Given the description of an element on the screen output the (x, y) to click on. 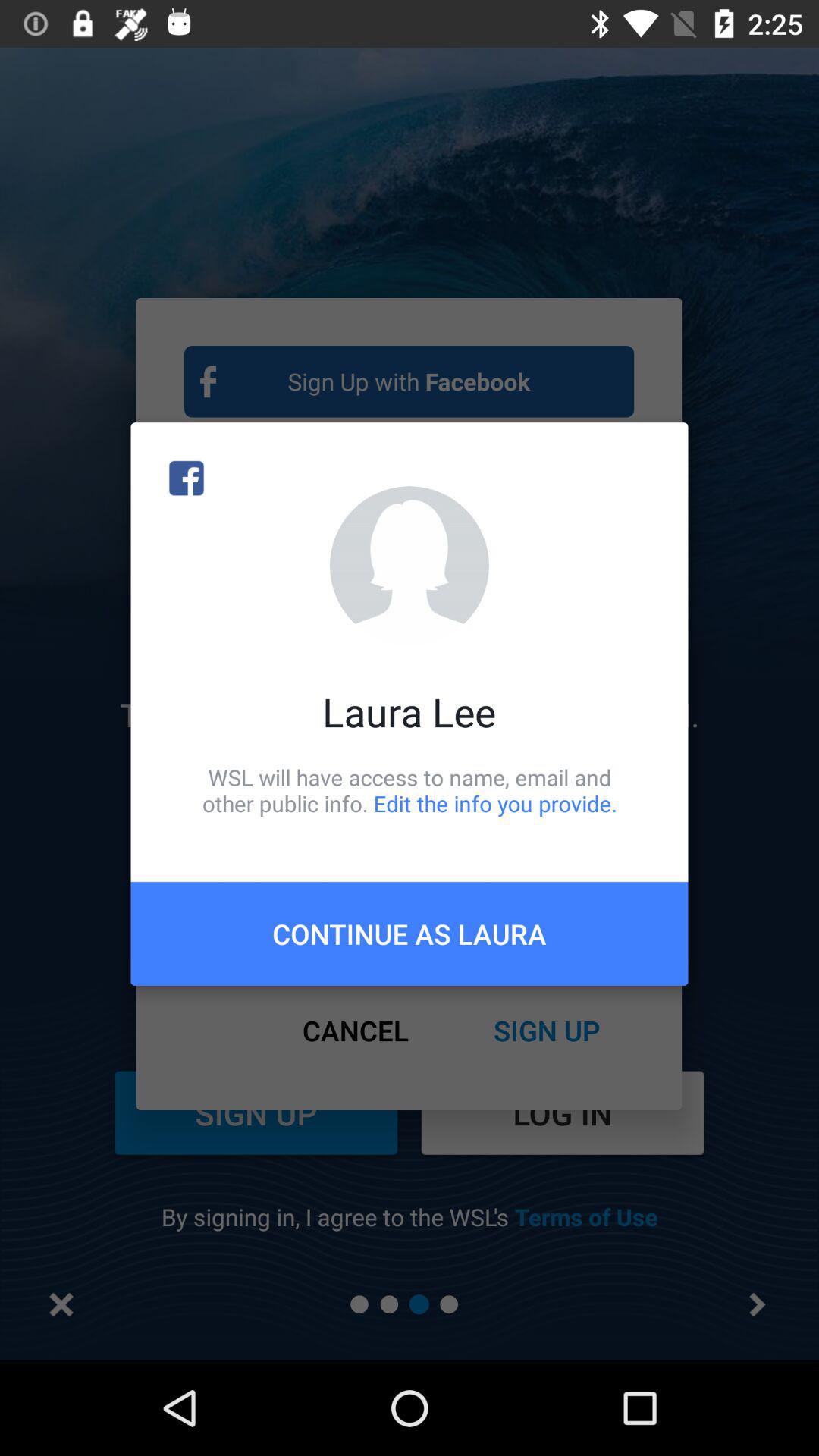
choose the icon below wsl will have item (409, 933)
